Given the description of an element on the screen output the (x, y) to click on. 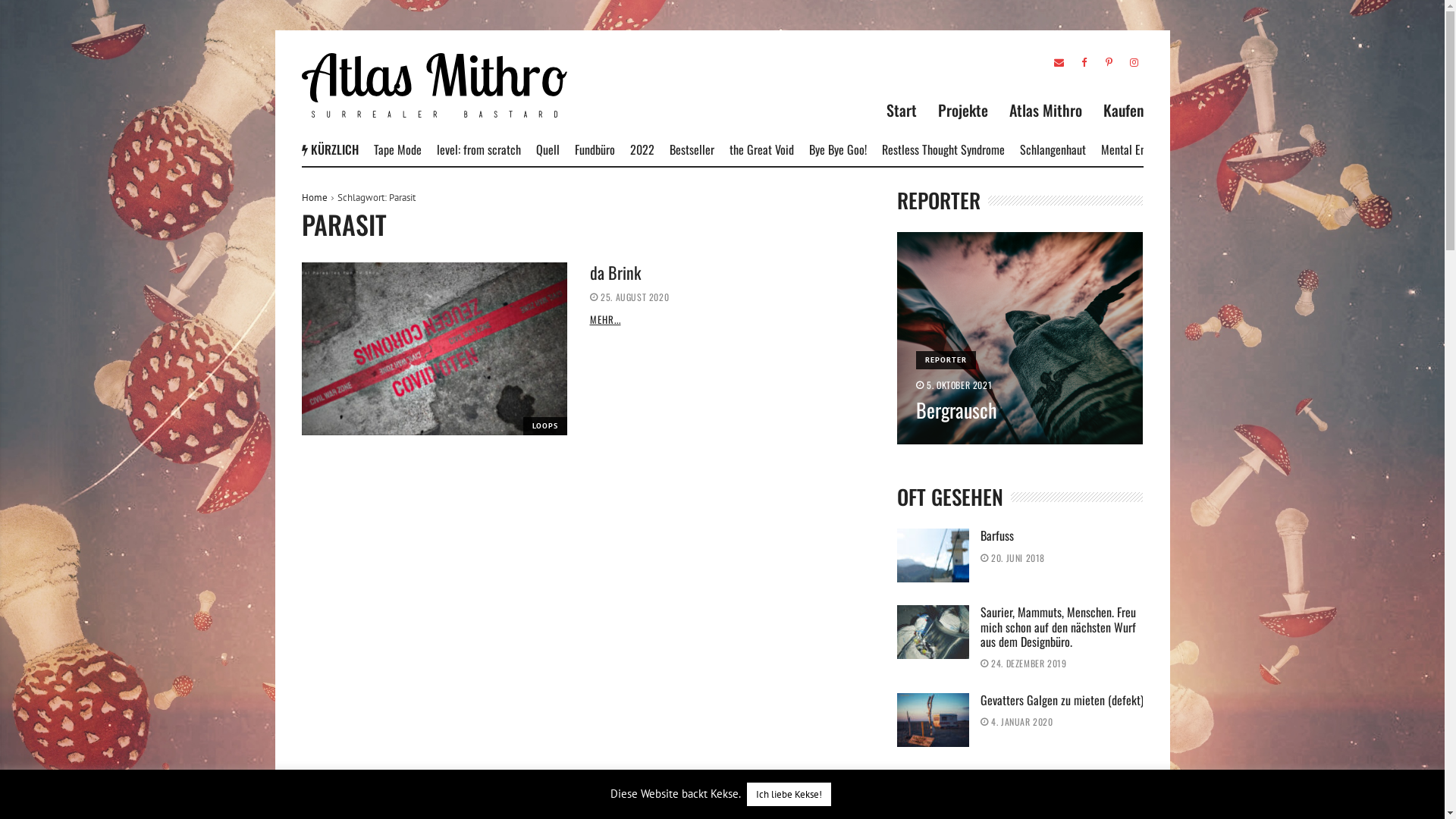
da Brink Element type: hover (434, 348)
REPORTER Element type: text (945, 360)
Bestseller Element type: text (927, 149)
Logos Element type: text (476, 149)
Instagram Element type: hover (1132, 62)
Toroidal Galaxies Element type: text (411, 149)
Atlas Mithro Element type: hover (434, 85)
Tropfen Element type: text (583, 149)
Bergrausch Element type: text (956, 409)
Projekte Element type: text (962, 109)
Facebook Element type: hover (1082, 62)
Bye Bye Goo! Element type: text (1071, 149)
Quell Element type: text (786, 149)
MEHR... Element type: text (605, 318)
Atlas Mithro Element type: text (1044, 109)
Email Element type: hover (1058, 62)
Gevatters Galgen zu mieten (defekt) Element type: text (1060, 699)
Bergrausch Element type: hover (1019, 338)
Ich liebe Kekse! Element type: text (788, 794)
Barfuss Element type: text (996, 535)
Gevatters Galgen zu mieten (defekt) Element type: hover (932, 719)
2022 Element type: text (879, 149)
Start Element type: text (900, 109)
Cosmic Eye Element type: text (527, 149)
da Brink Element type: text (614, 272)
level: from scratch Element type: text (718, 149)
Kaufen Element type: text (1122, 109)
Tape Mode Element type: text (637, 149)
the Great Void Element type: text (996, 149)
Pinterest Element type: hover (1108, 62)
Home Element type: text (314, 197)
der Alte und sein Qi Element type: text (1023, 776)
LOOPS Element type: text (545, 426)
Restless Thought Syndrome Element type: text (1176, 149)
Barfuss Element type: hover (932, 555)
Skip to content Element type: text (274, 29)
